Given the description of an element on the screen output the (x, y) to click on. 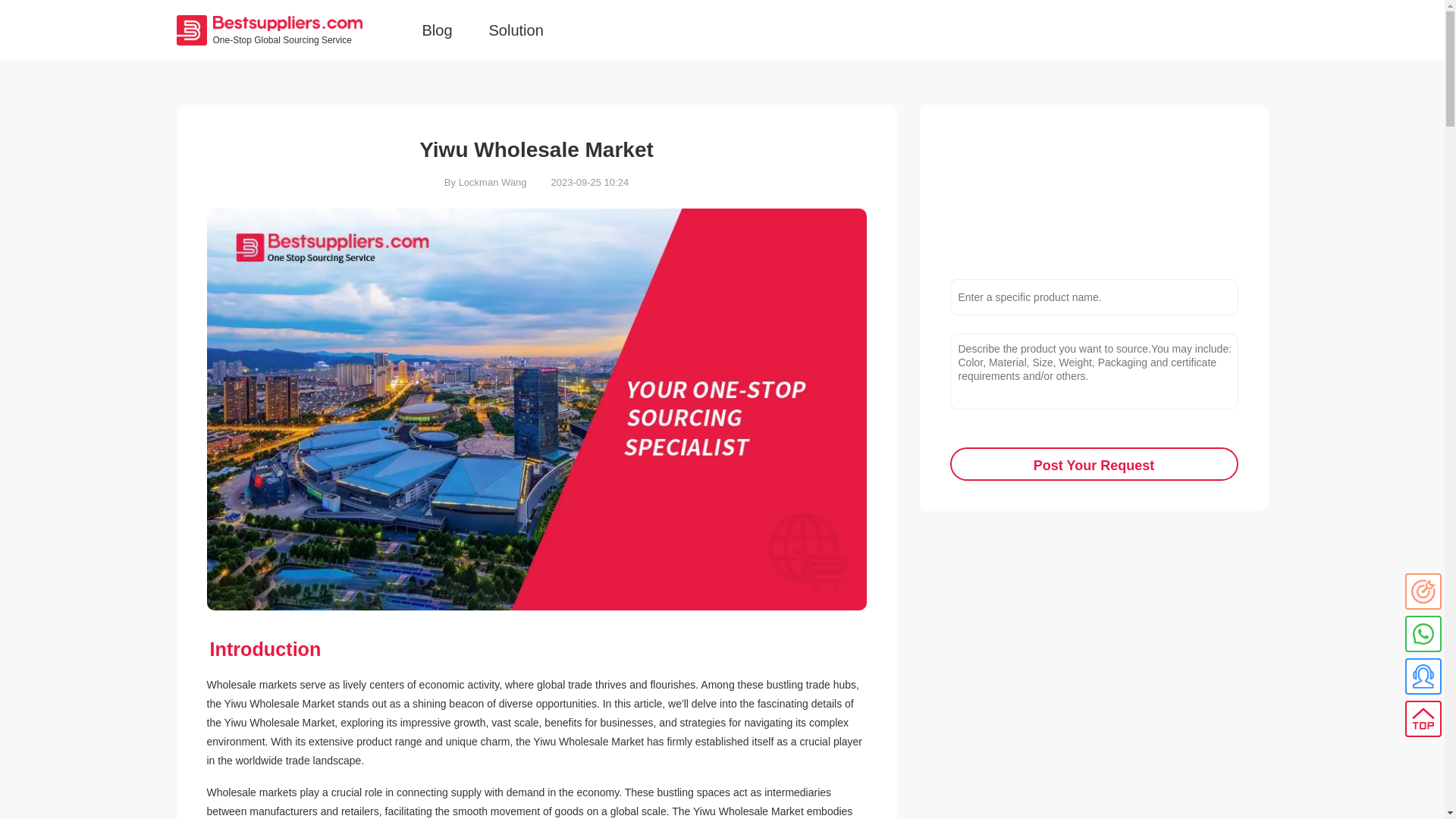
Blog (436, 29)
Post Your Request (1093, 463)
To top (1423, 719)
One-Stop Global Sourcing Service (289, 29)
Online Service (1423, 676)
Solution (516, 29)
